Given the description of an element on the screen output the (x, y) to click on. 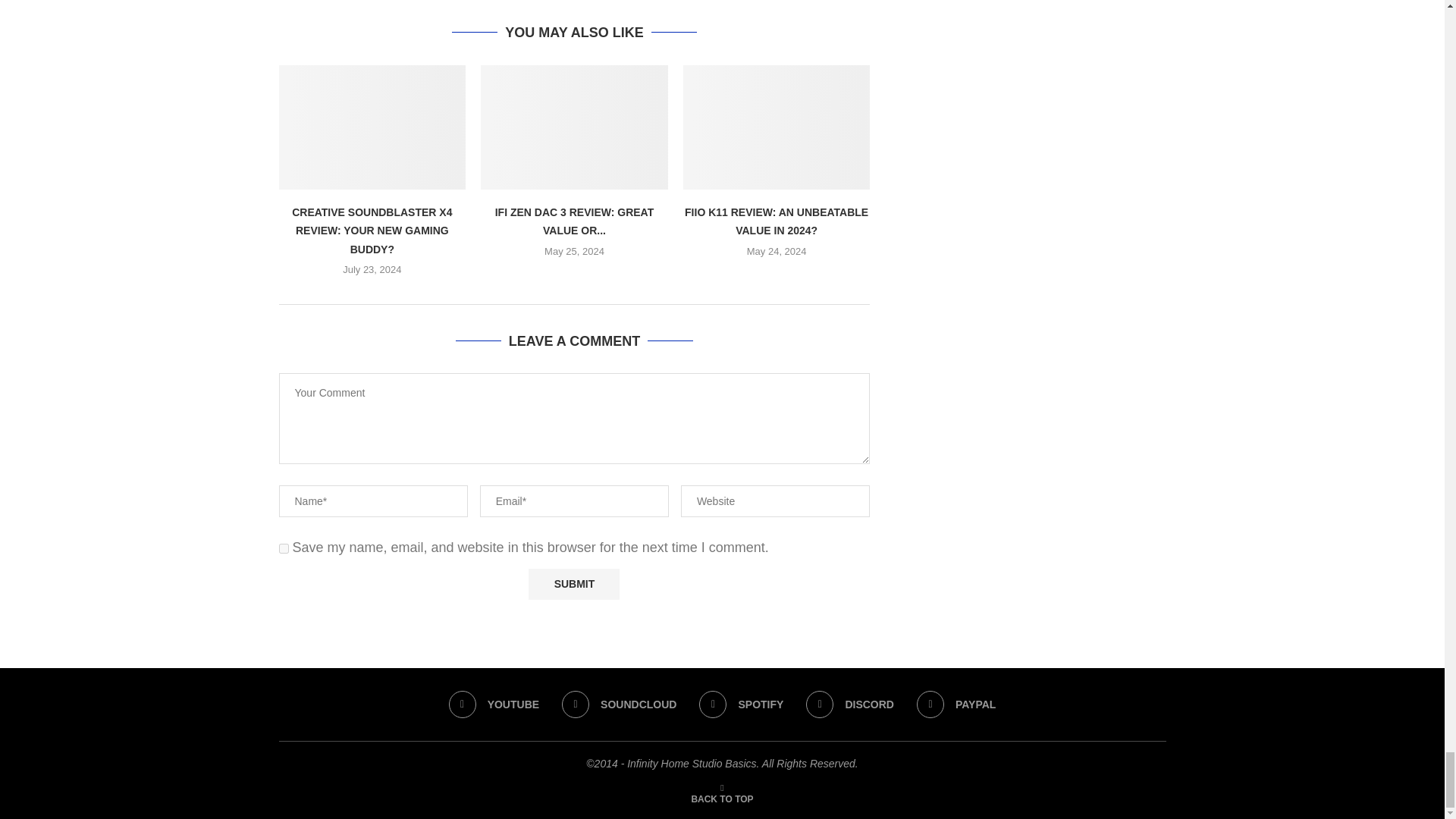
Submit (574, 583)
yes (283, 548)
iFi Zen DAC 3 Review: Great Value Or Massive Disappointment? (574, 127)
Creative SoundBlaster X4 Review: Your New Gaming Buddy? (372, 127)
